Given the description of an element on the screen output the (x, y) to click on. 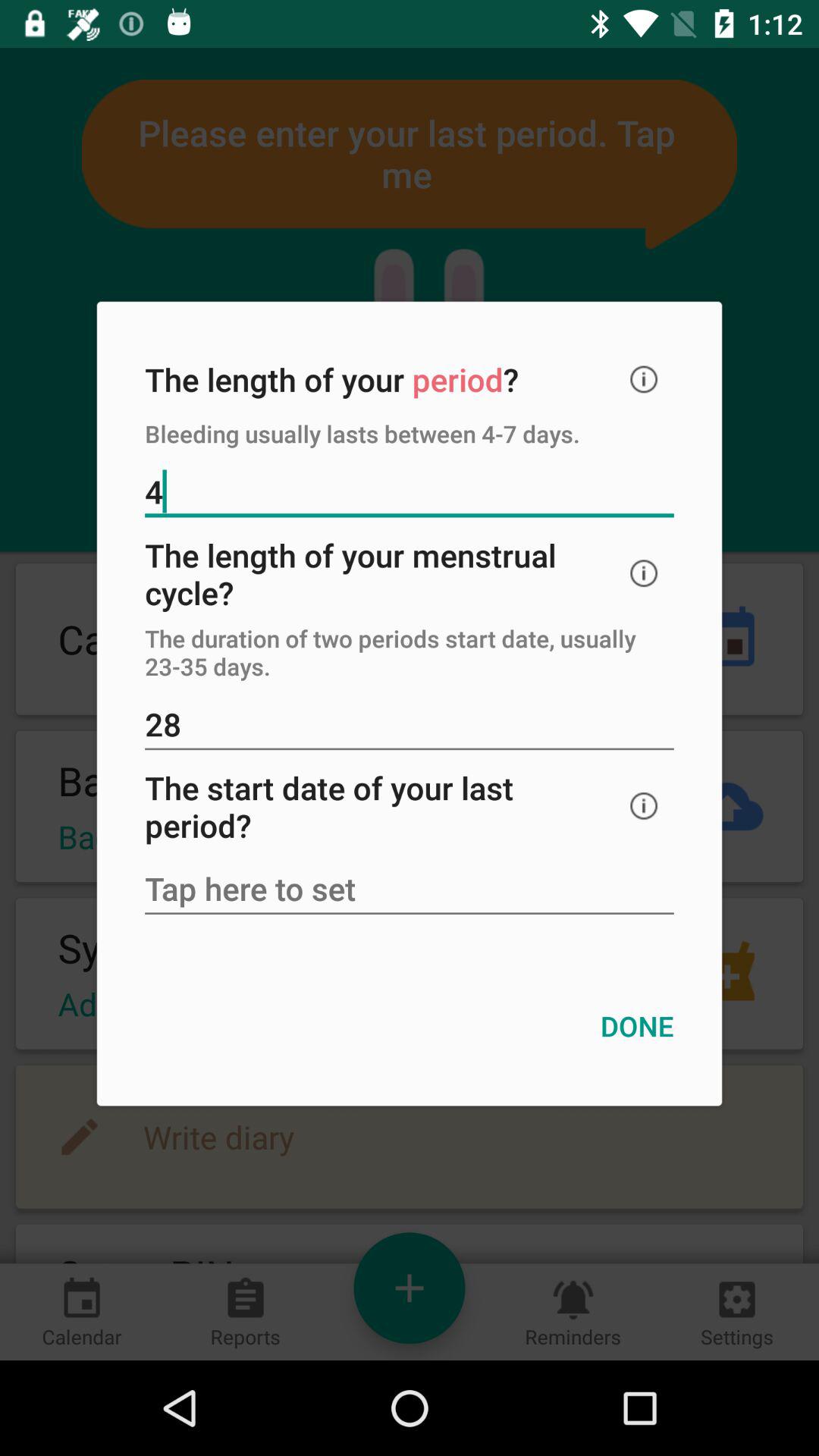
select item above bleeding usually lasts item (643, 379)
